Given the description of an element on the screen output the (x, y) to click on. 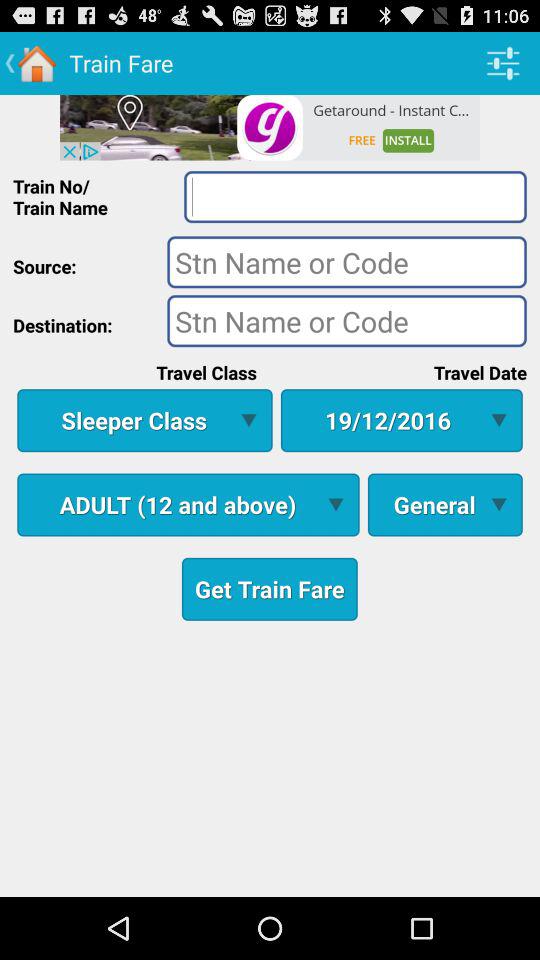
source button (346, 261)
